Given the description of an element on the screen output the (x, y) to click on. 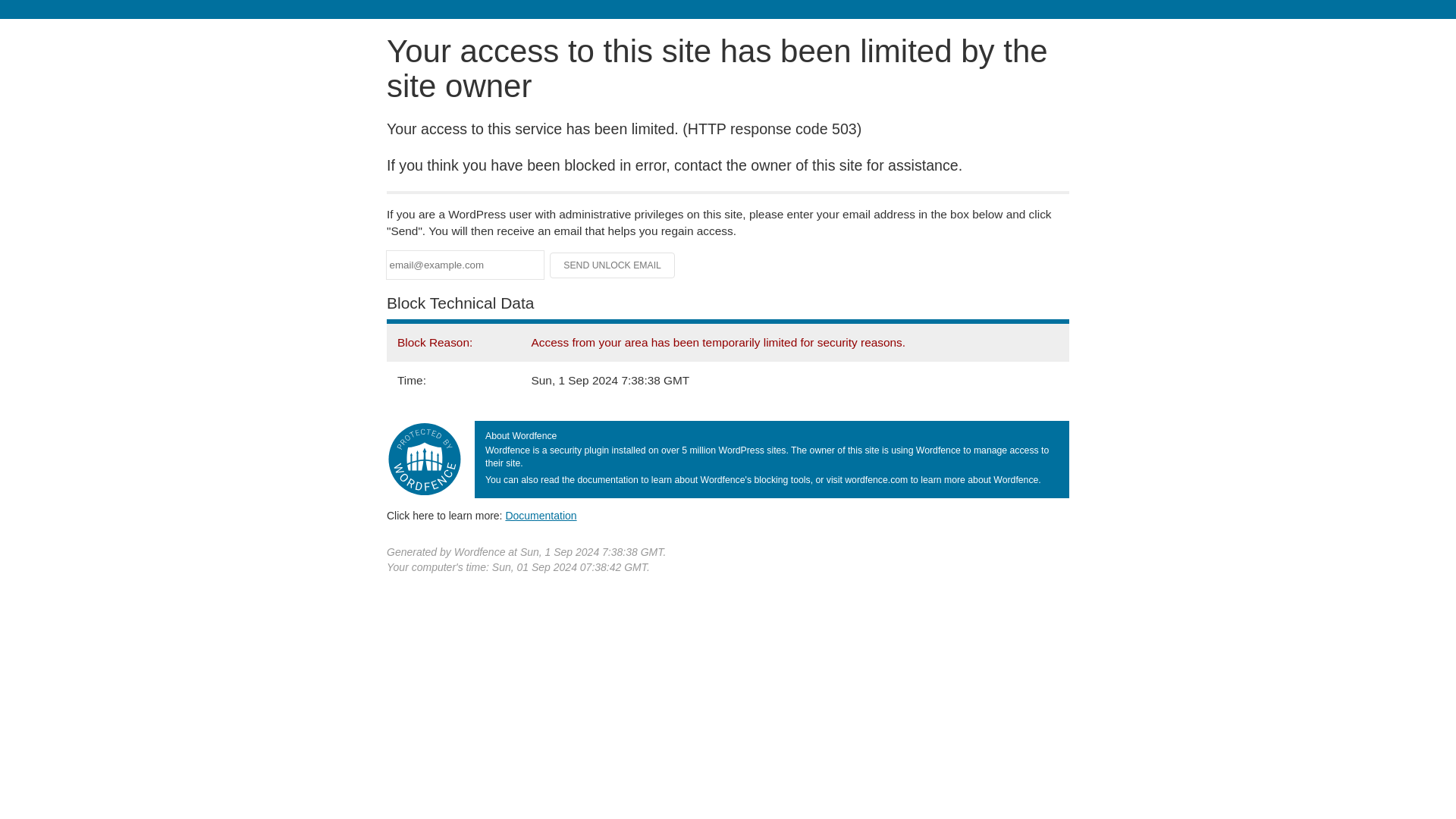
Documentation (540, 515)
Send Unlock Email (612, 265)
Send Unlock Email (612, 265)
